Given the description of an element on the screen output the (x, y) to click on. 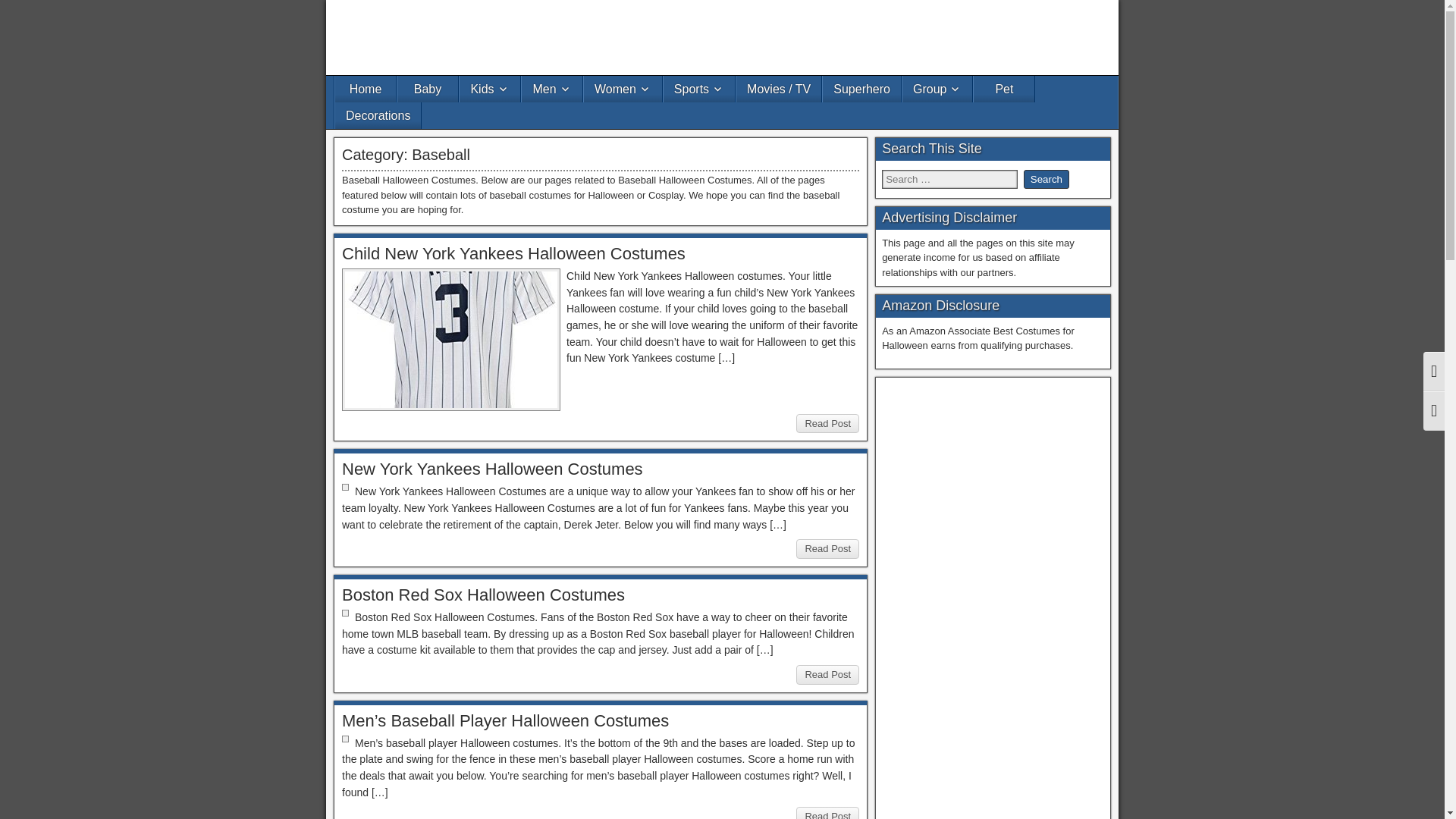
Baby (427, 89)
Superhero (861, 89)
Read Post (827, 424)
Superhero Halloween Costumes (861, 89)
New York Yankees Halloween Costumes (492, 468)
Decorations (377, 115)
Child New York Yankees Halloween Costumes (513, 253)
Boston Red Sox Halloween Costumes (483, 594)
Sports Halloween Costumes (699, 89)
Group Halloween Costumes (937, 89)
